Given the description of an element on the screen output the (x, y) to click on. 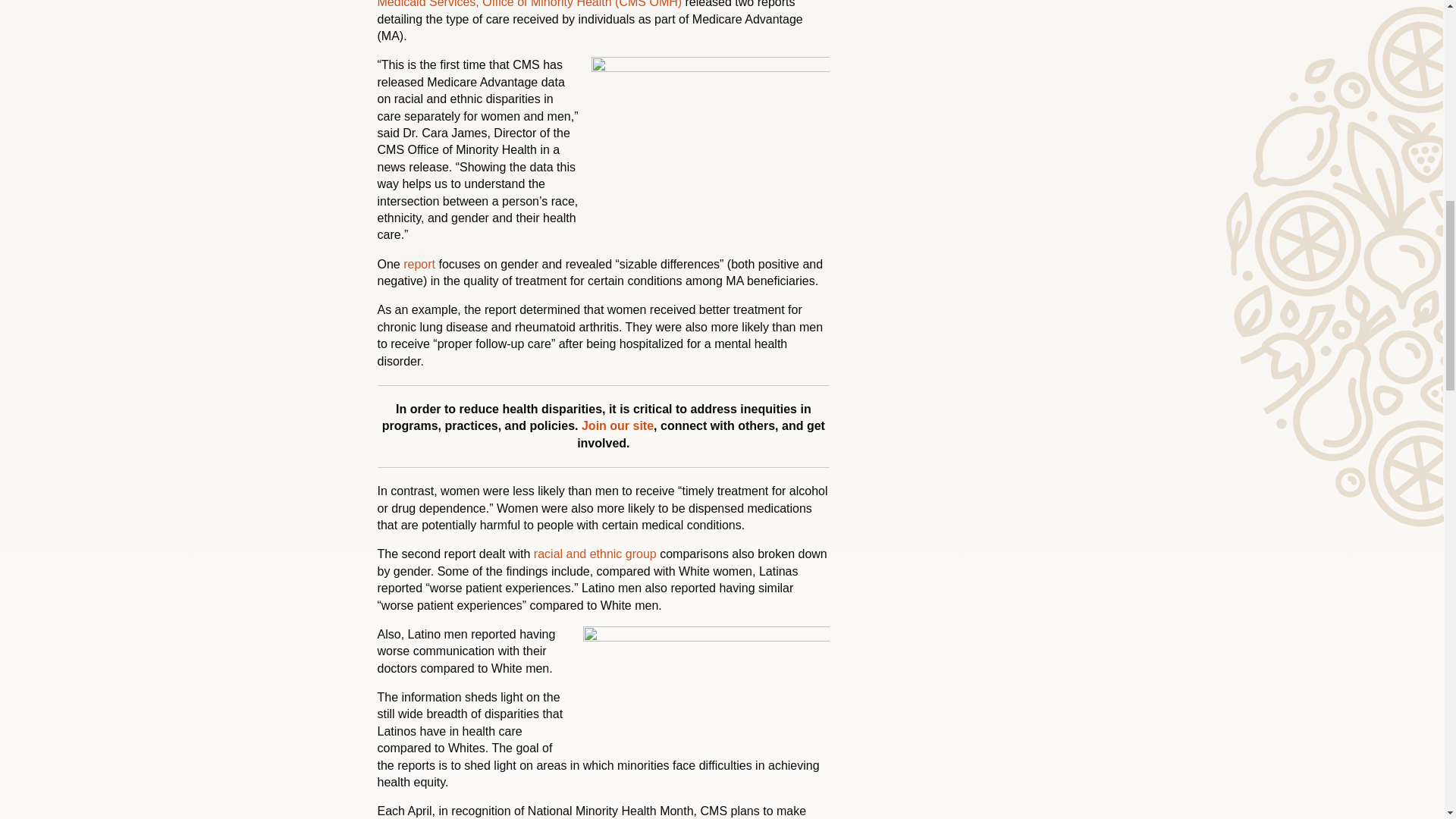
report (419, 264)
racial and ethnic group (595, 553)
Join our site (616, 425)
